Given the description of an element on the screen output the (x, y) to click on. 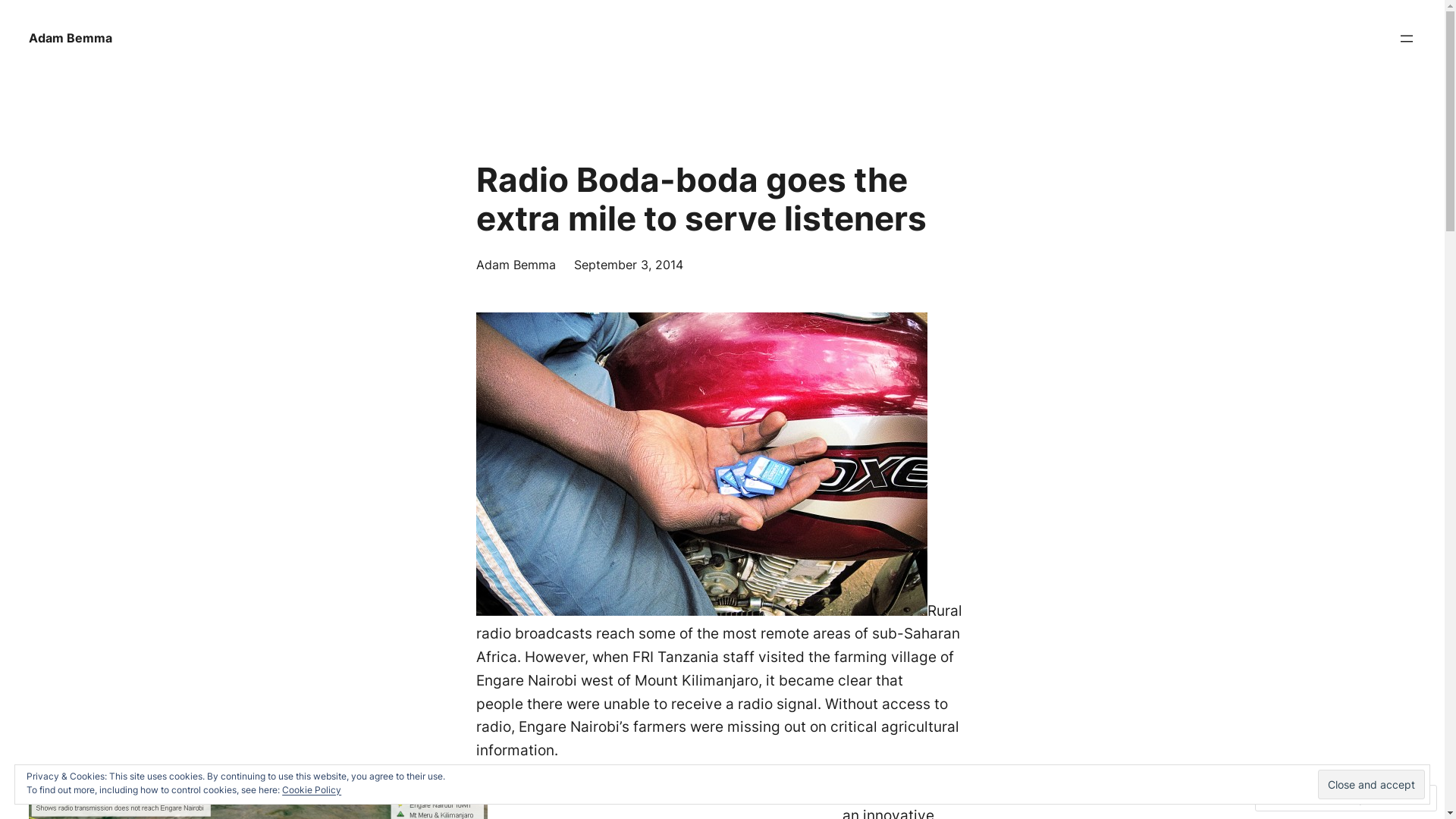
Comment Element type: text (1296, 797)
Close and accept Element type: text (1370, 784)
Cookie Policy Element type: text (311, 789)
Adam Bemma Element type: text (70, 37)
Follow Element type: text (1372, 797)
